Given the description of an element on the screen output the (x, y) to click on. 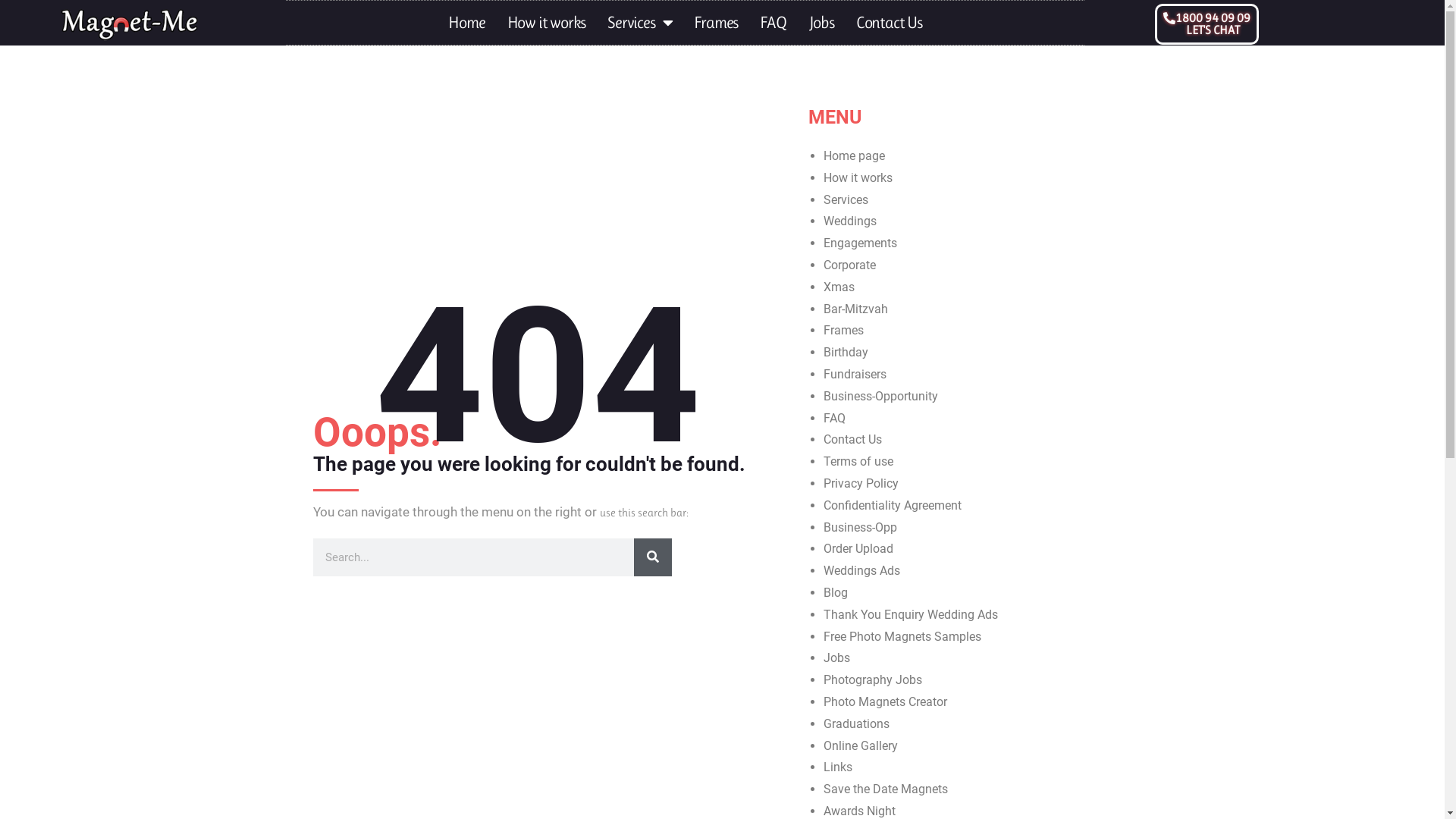
Confidentiality Agreement Element type: text (892, 505)
Links Element type: text (837, 766)
Graduations Element type: text (856, 723)
Services Element type: text (639, 22)
Privacy Policy Element type: text (860, 483)
Home page Element type: text (853, 155)
Online Gallery Element type: text (860, 745)
Xmas Element type: text (838, 286)
Blog Element type: text (835, 592)
Jobs Element type: text (836, 657)
1800 94 09 09
LET'S CHAT Element type: text (1206, 23)
Weddings Element type: text (849, 220)
Awards Night Element type: text (859, 810)
How it works Element type: text (546, 22)
Photo Magnets Creator Element type: text (885, 701)
Birthday Element type: text (845, 352)
Order Upload Element type: text (858, 548)
Terms of use Element type: text (858, 461)
Photography Jobs Element type: text (872, 679)
How it works Element type: text (857, 177)
Thank You Enquiry Wedding Ads Element type: text (910, 614)
Fundraisers Element type: text (854, 374)
FAQ Element type: text (773, 22)
Free Photo Magnets Samples Element type: text (902, 636)
FAQ Element type: text (834, 418)
Engagements Element type: text (860, 242)
Frames Element type: text (843, 330)
Weddings Ads Element type: text (861, 570)
Business-Opp Element type: text (860, 527)
Jobs Element type: text (821, 22)
Business-Opportunity Element type: text (880, 396)
Save the Date Magnets Element type: text (885, 788)
Corporate Element type: text (849, 264)
Services Element type: text (845, 199)
Frames Element type: text (715, 22)
Contact Us Element type: text (888, 22)
Bar-Mitzvah Element type: text (855, 308)
Contact Us Element type: text (852, 439)
Home Element type: text (466, 22)
